Given the description of an element on the screen output the (x, y) to click on. 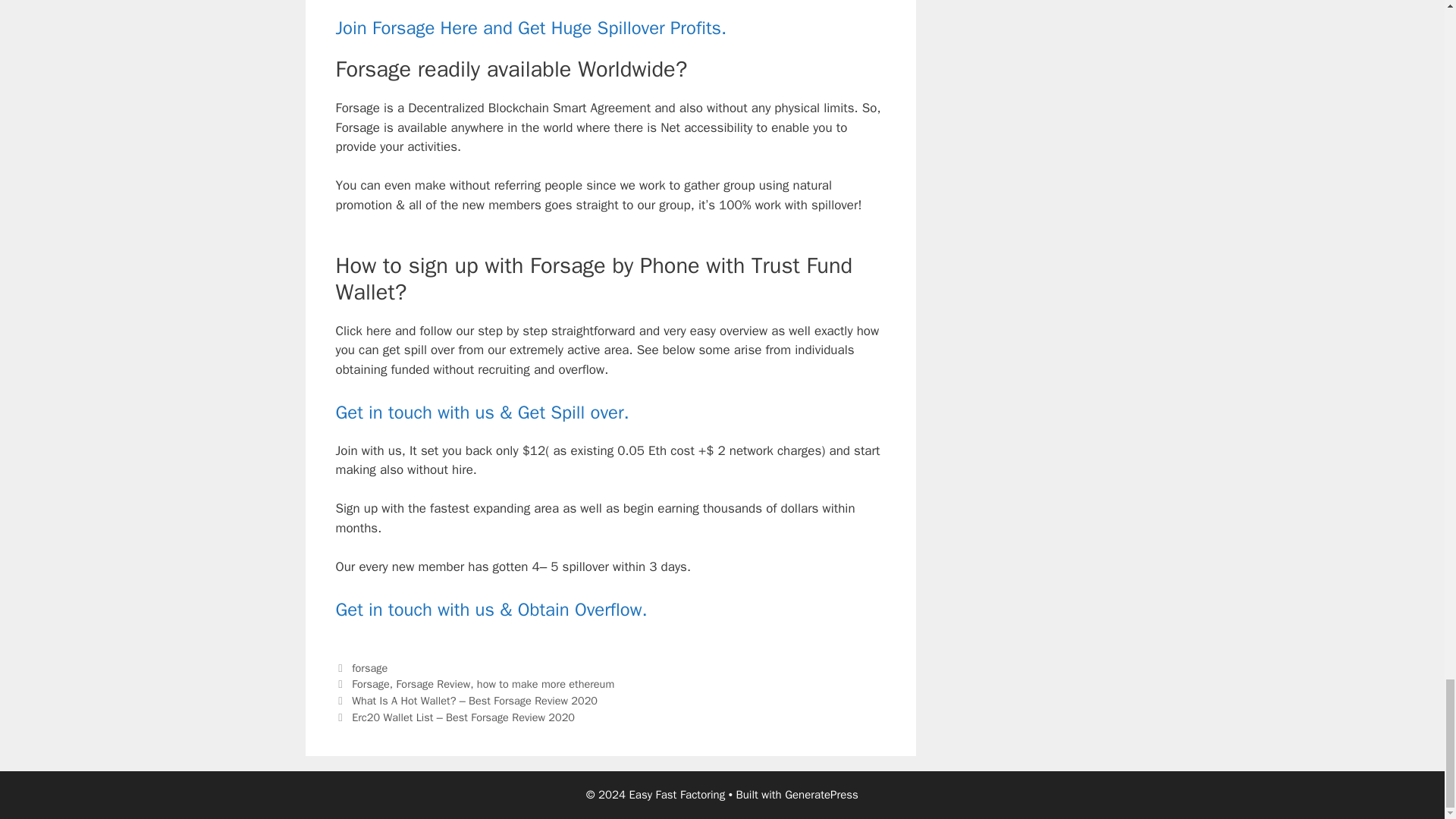
forsage (369, 667)
Join Forsage Here and Get Huge Spillover Profits. (530, 27)
Forsage Review (433, 684)
GeneratePress (821, 794)
Forsage (371, 684)
how to make more ethereum (545, 684)
